Given the description of an element on the screen output the (x, y) to click on. 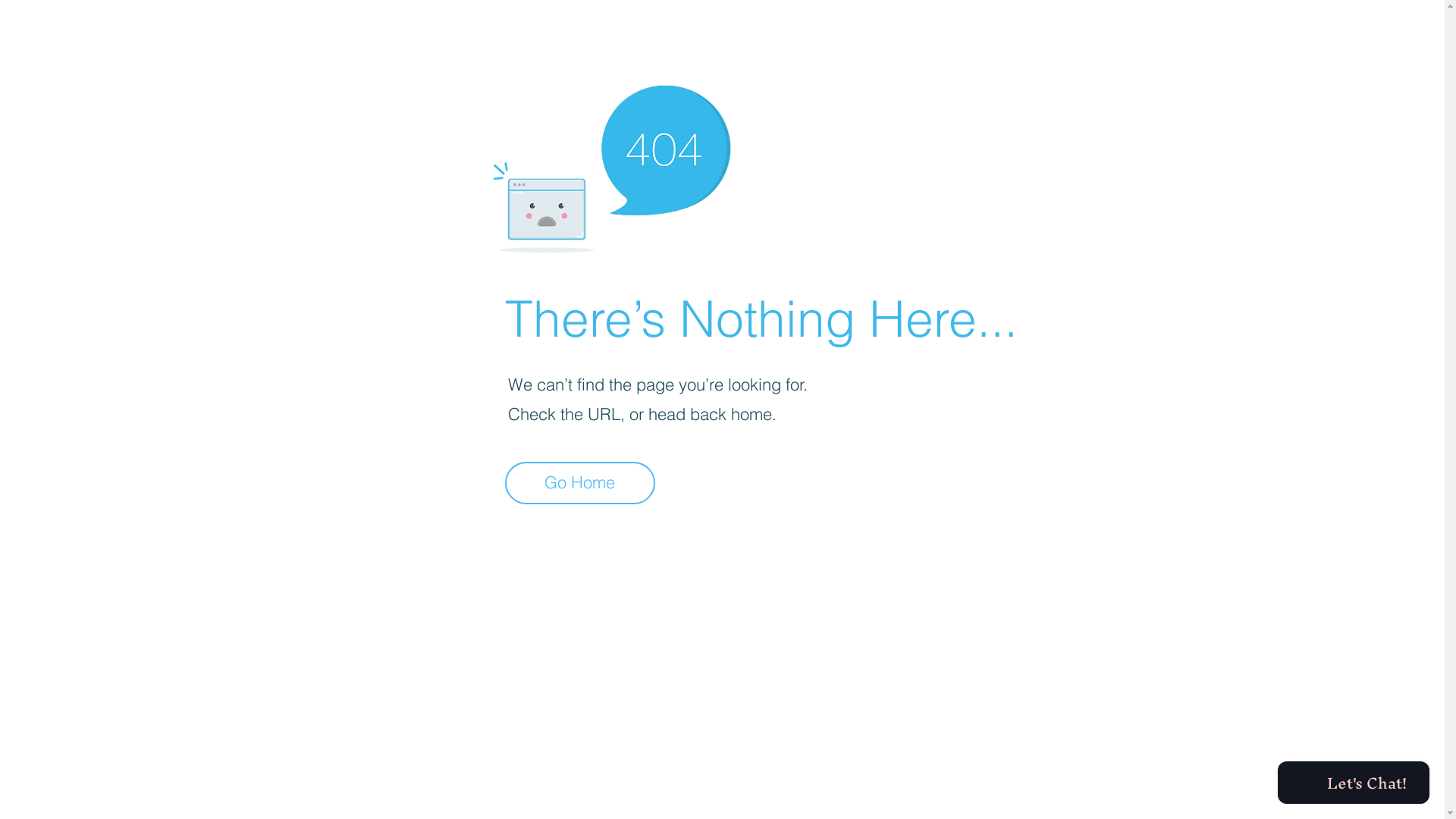
Go Home Element type: text (580, 482)
404-icon_2.png Element type: hover (610, 164)
